Given the description of an element on the screen output the (x, y) to click on. 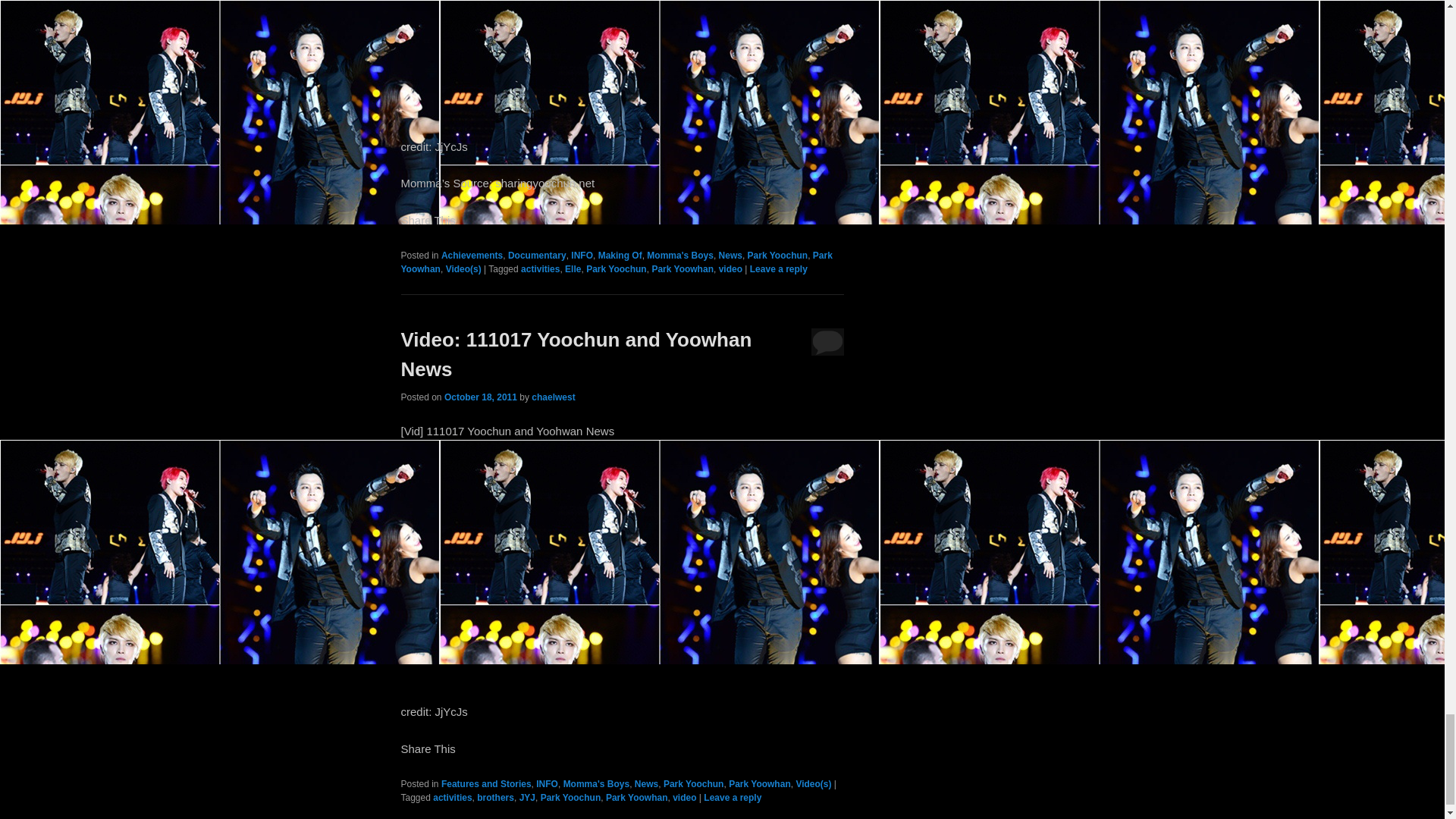
9:56 am (480, 397)
View all posts by chaelwest (553, 397)
